Given the description of an element on the screen output the (x, y) to click on. 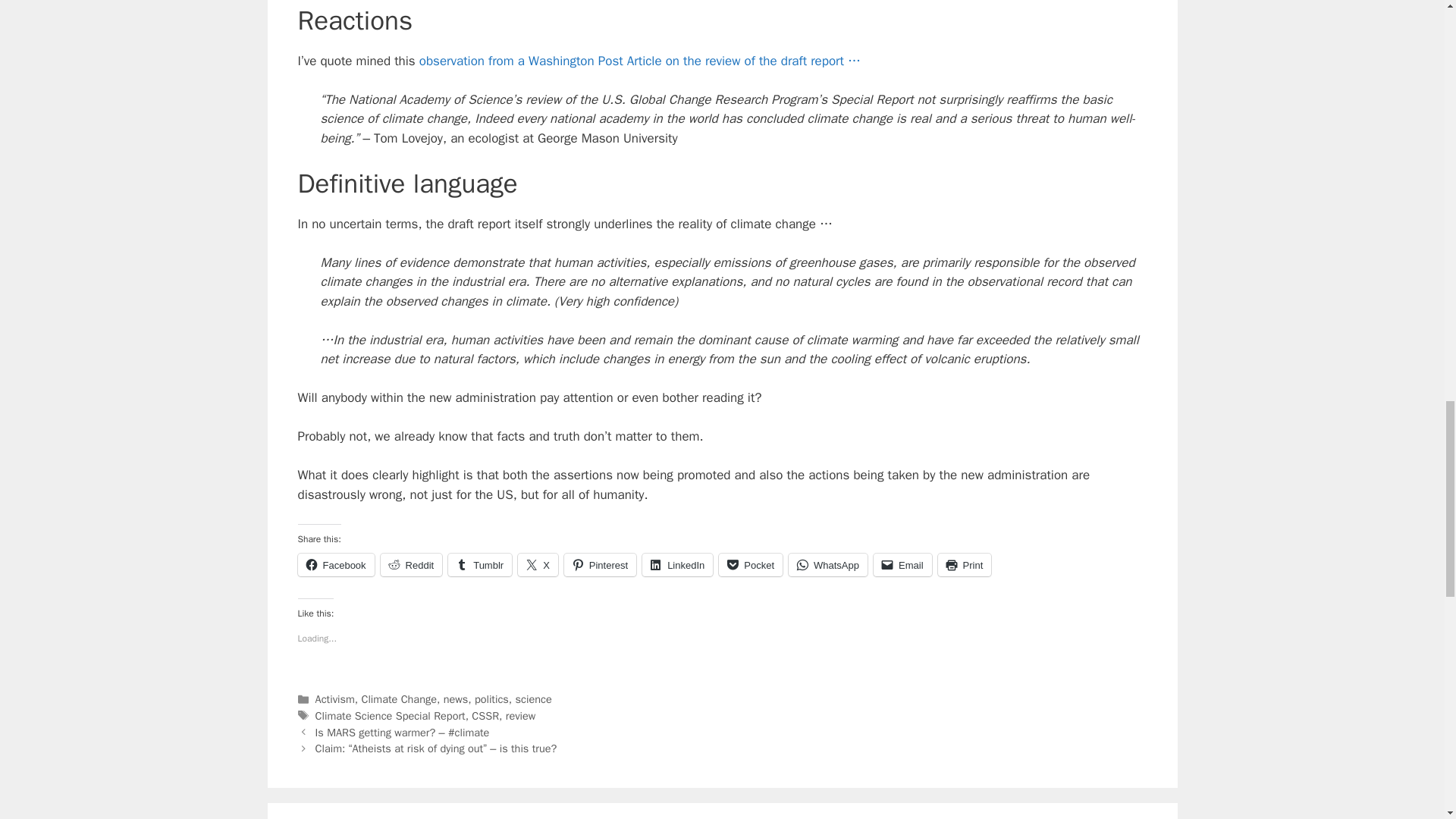
Click to share on X (537, 564)
Tumblr (480, 564)
Click to share on Facebook (335, 564)
Click to share on Pinterest (600, 564)
Click to share on Tumblr (480, 564)
Reddit (411, 564)
X (537, 564)
Click to share on Pocket (751, 564)
Click to share on Reddit (411, 564)
Click to share on LinkedIn (677, 564)
Facebook (335, 564)
Click to email a link to a friend (902, 564)
Click to print (964, 564)
Click to share on WhatsApp (828, 564)
